Given the description of an element on the screen output the (x, y) to click on. 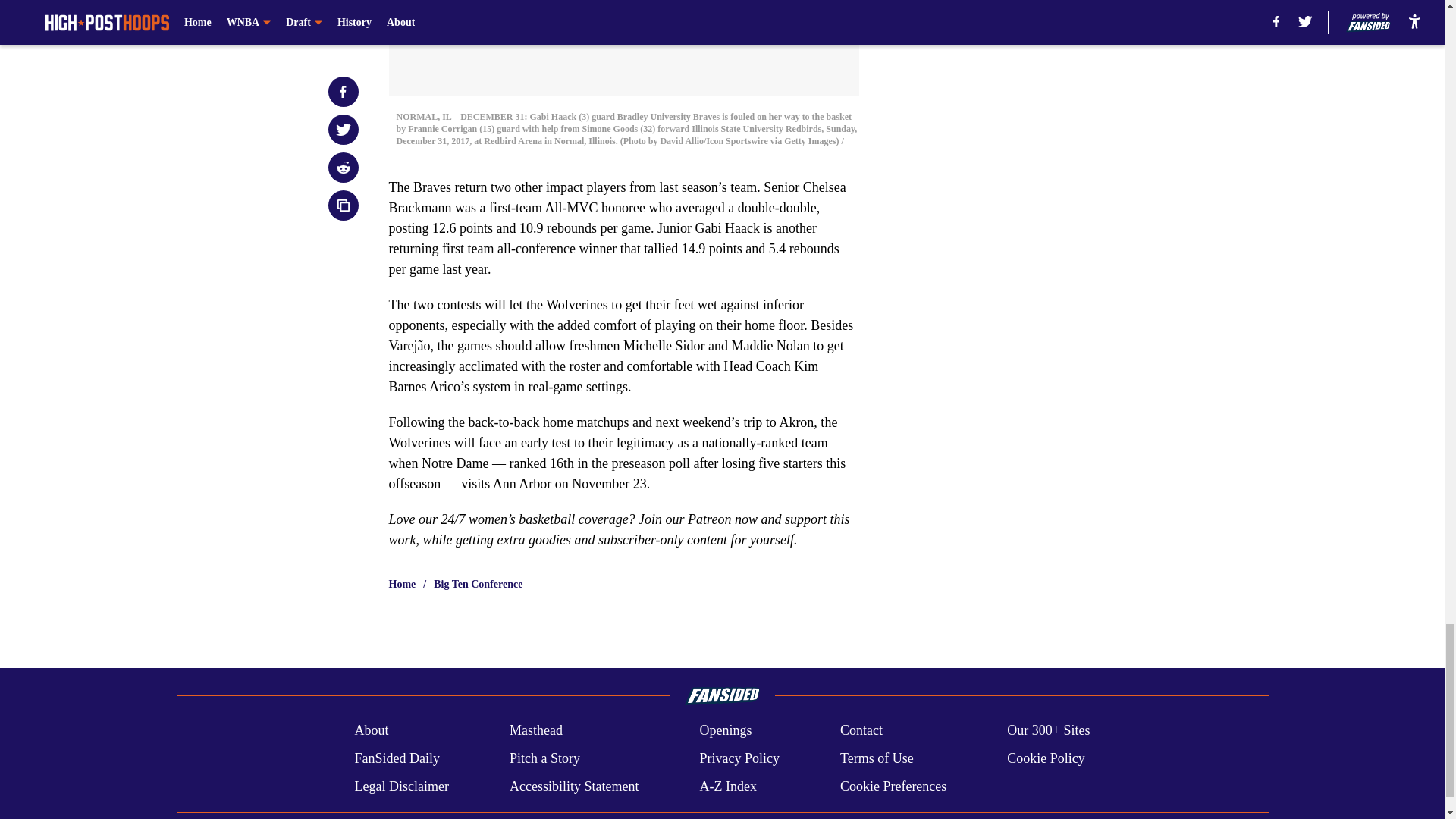
Big Ten Conference (477, 584)
Home (401, 584)
Openings (724, 730)
Masthead (535, 730)
About (370, 730)
